Given the description of an element on the screen output the (x, y) to click on. 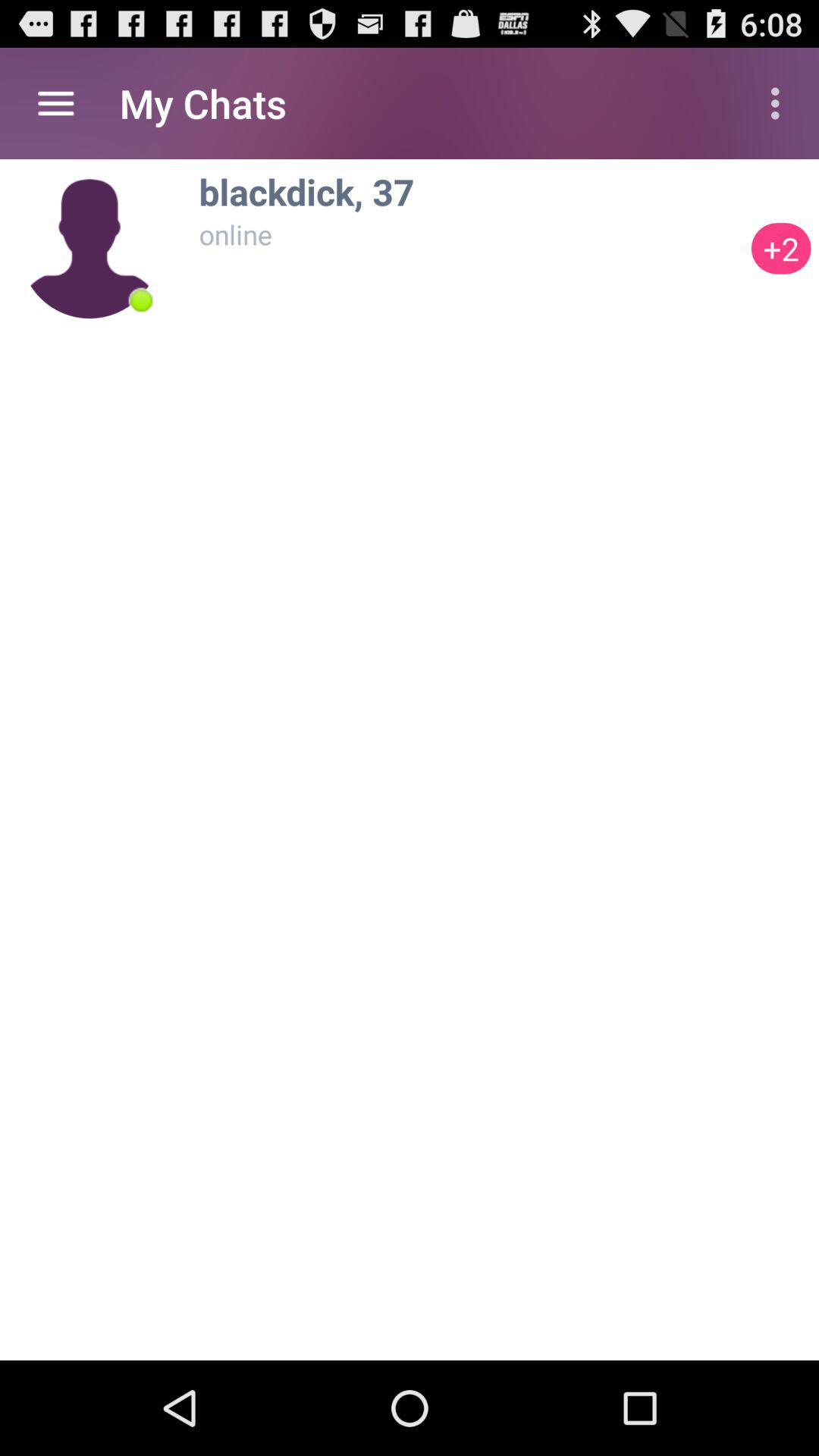
tap icon to the right of my chats icon (779, 103)
